Given the description of an element on the screen output the (x, y) to click on. 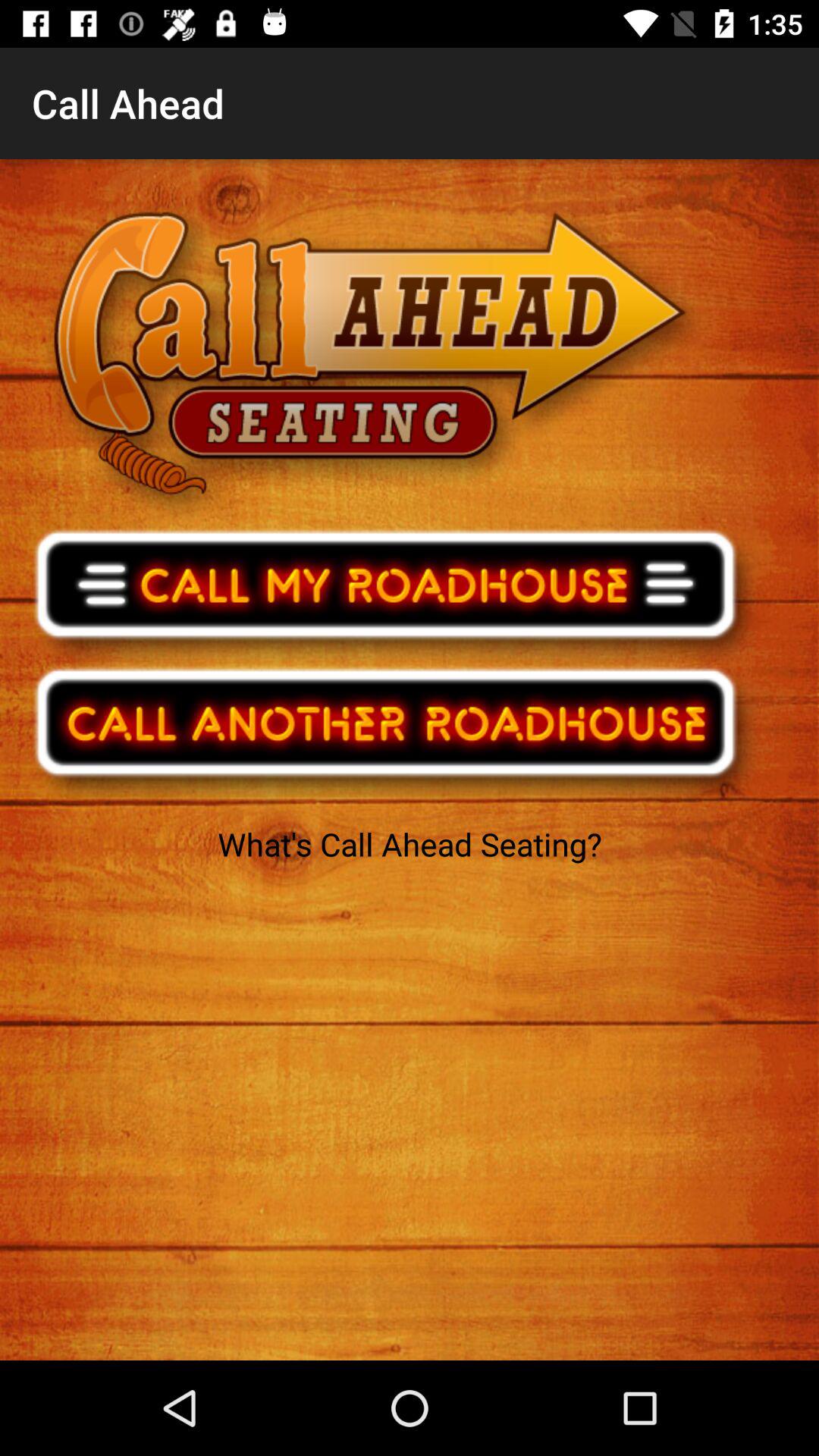
call another roadhouse (395, 732)
